Given the description of an element on the screen output the (x, y) to click on. 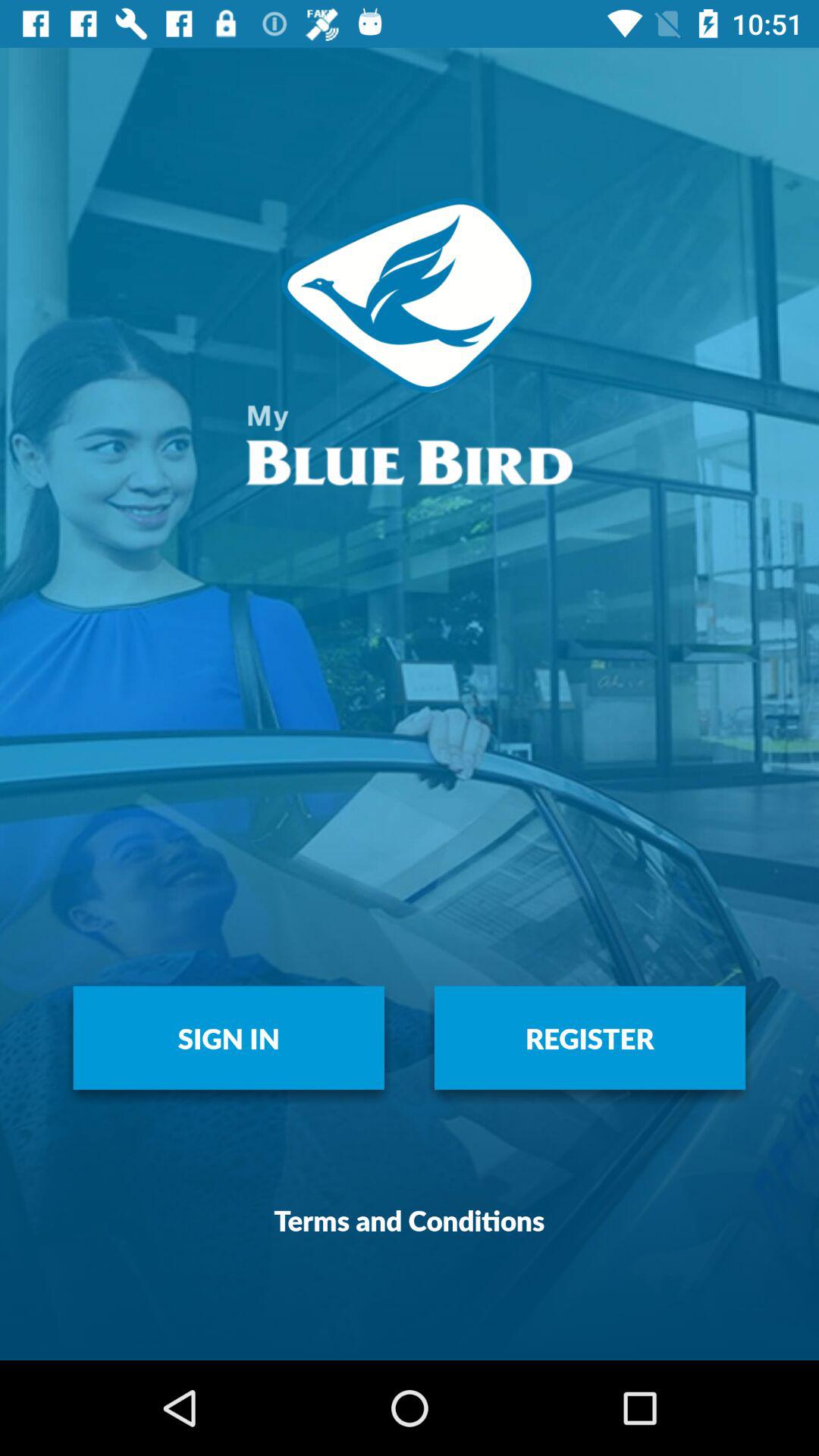
press the icon at the bottom right corner (589, 1037)
